Given the description of an element on the screen output the (x, y) to click on. 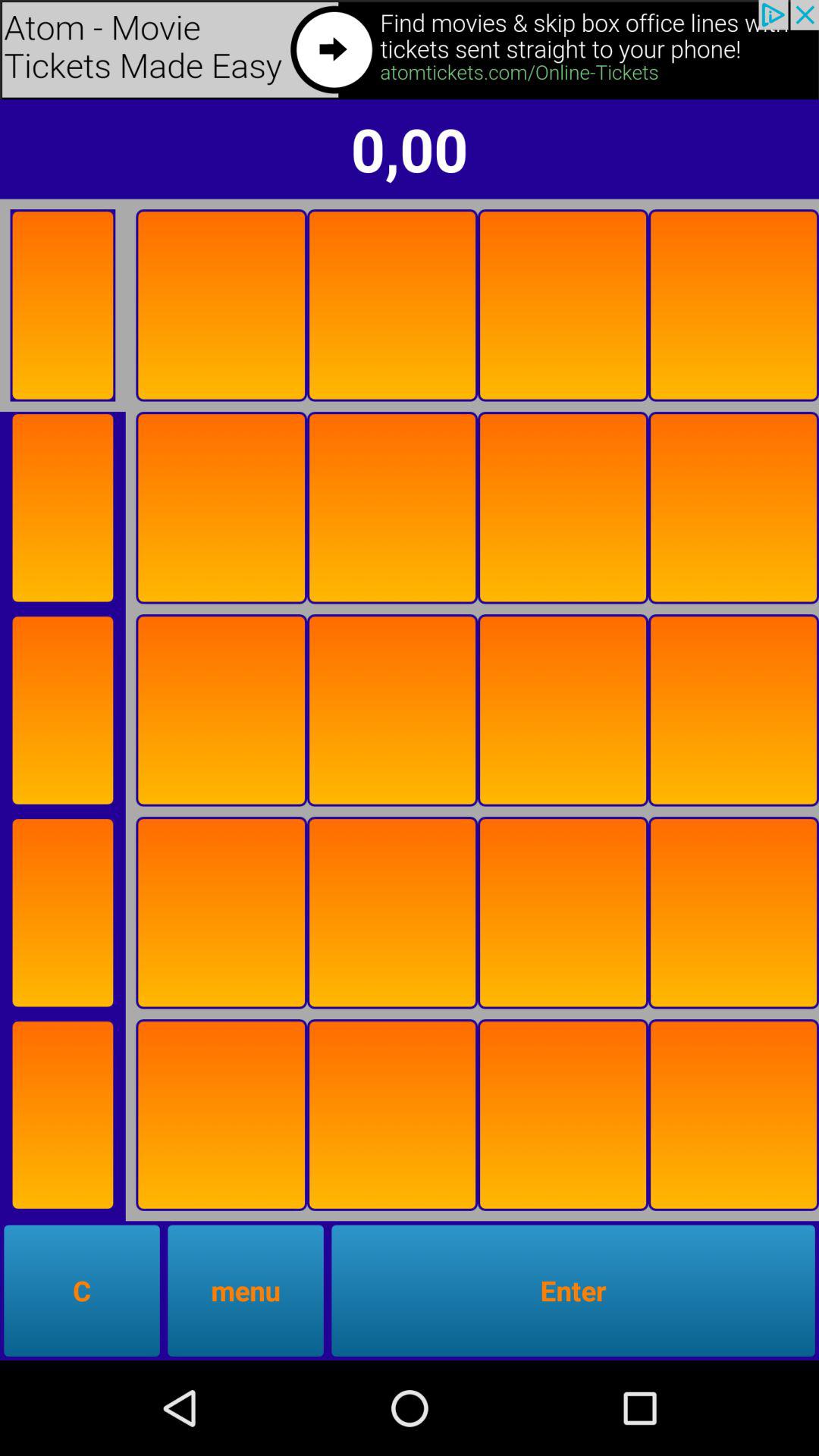
cash register button (733, 305)
